Given the description of an element on the screen output the (x, y) to click on. 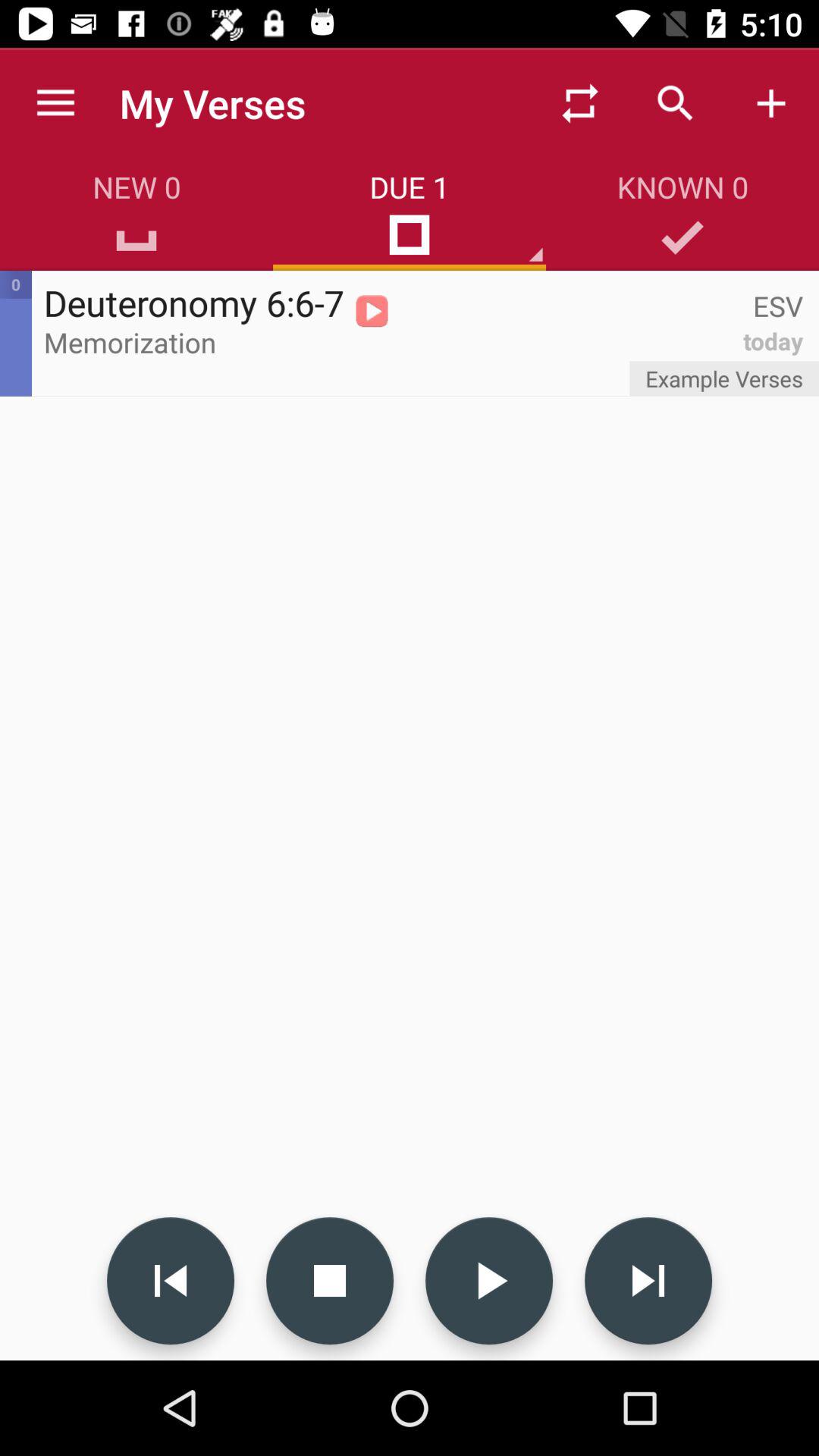
launch the icon above the known 0 icon (675, 103)
